Given the description of an element on the screen output the (x, y) to click on. 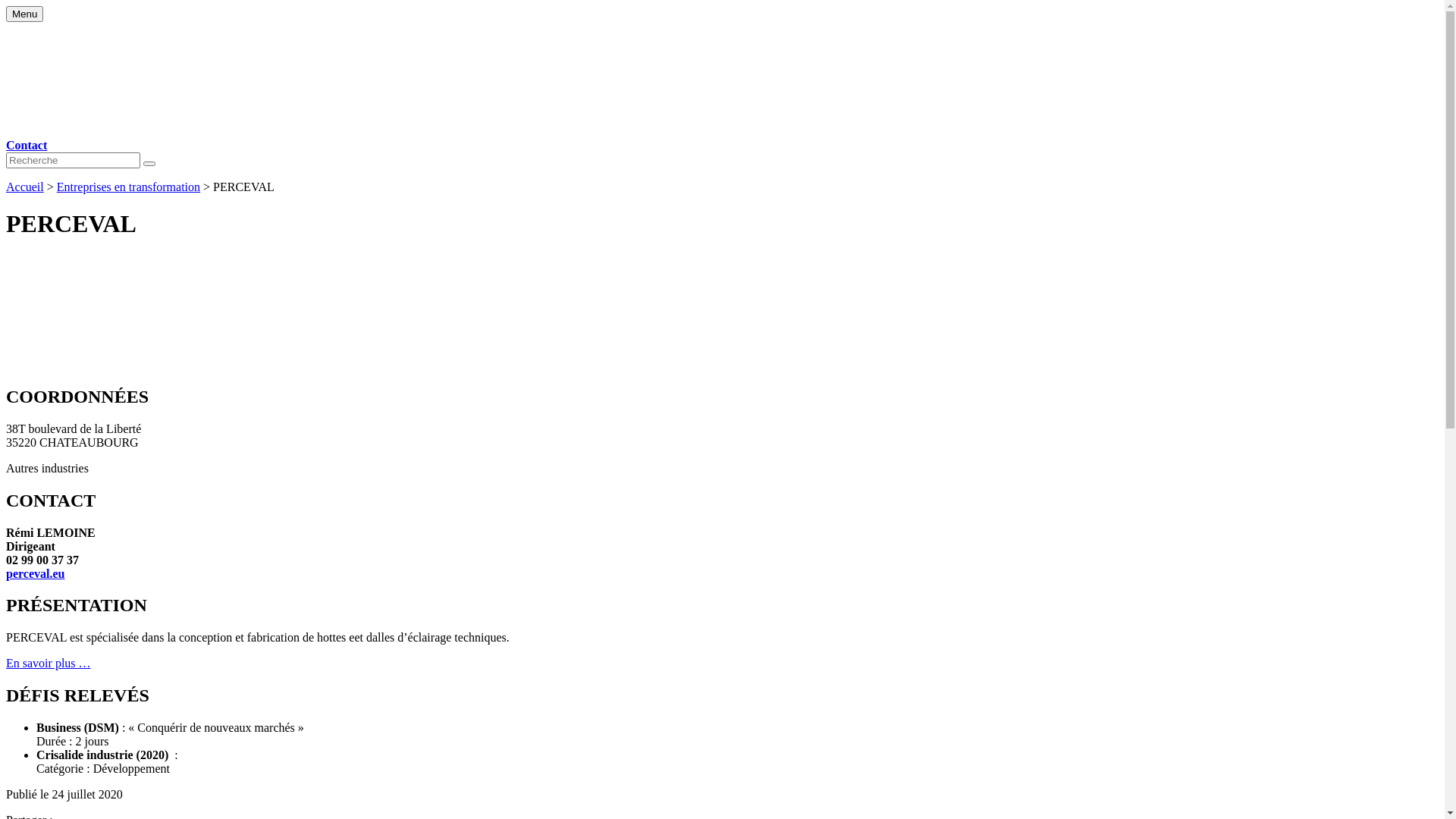
Menu Element type: text (24, 13)
Contact Element type: text (26, 144)
Accueil Element type: text (24, 186)
perceval.eu Element type: text (35, 573)
Entreprises en transformation Element type: text (128, 186)
